Given the description of an element on the screen output the (x, y) to click on. 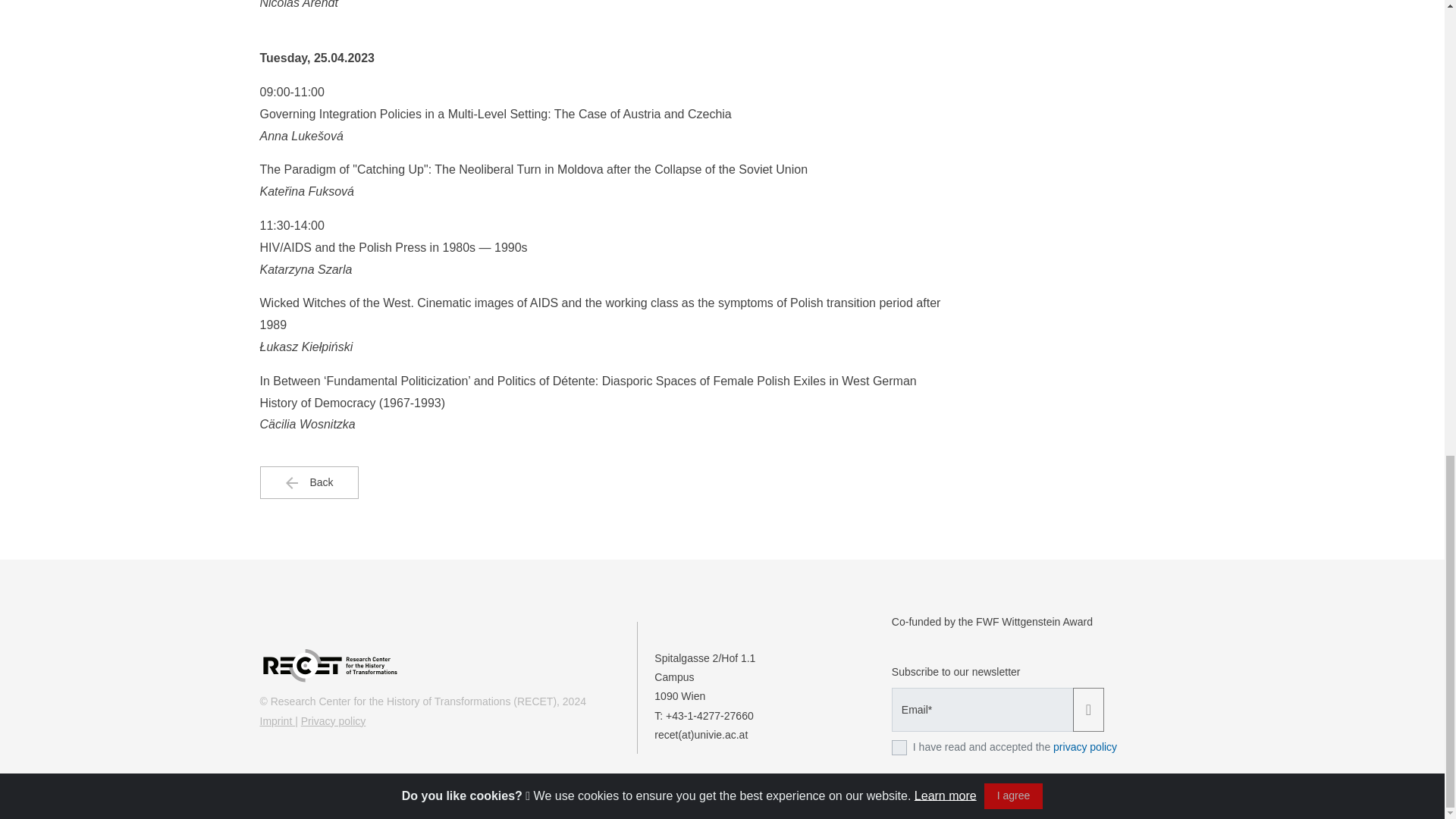
Back (308, 482)
privacy policy (1084, 746)
Privacy policy (333, 720)
Imprint (277, 720)
